Given the description of an element on the screen output the (x, y) to click on. 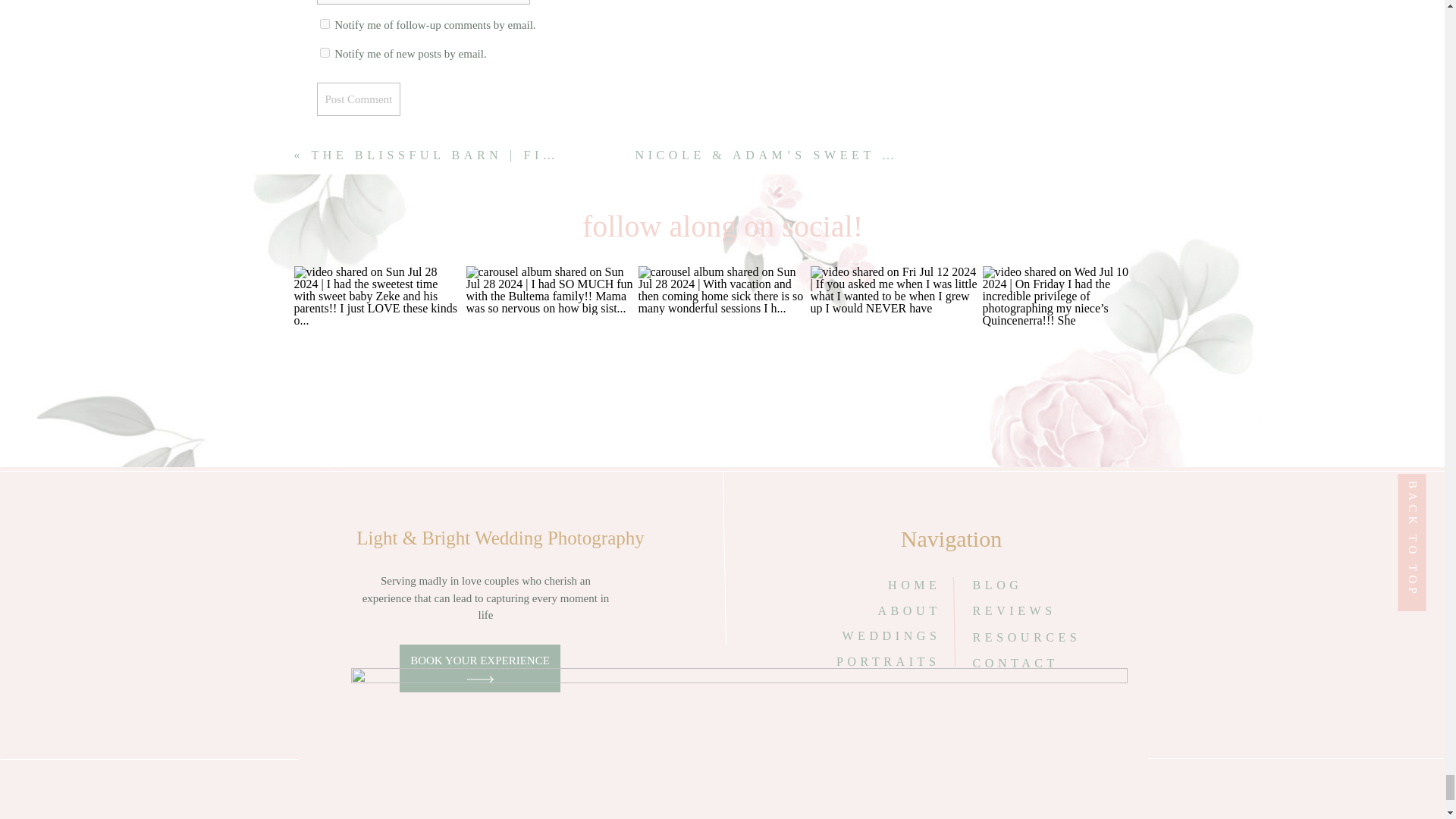
Post Comment (359, 98)
subscribe (325, 52)
Post Comment (359, 98)
subscribe (325, 22)
